Given the description of an element on the screen output the (x, y) to click on. 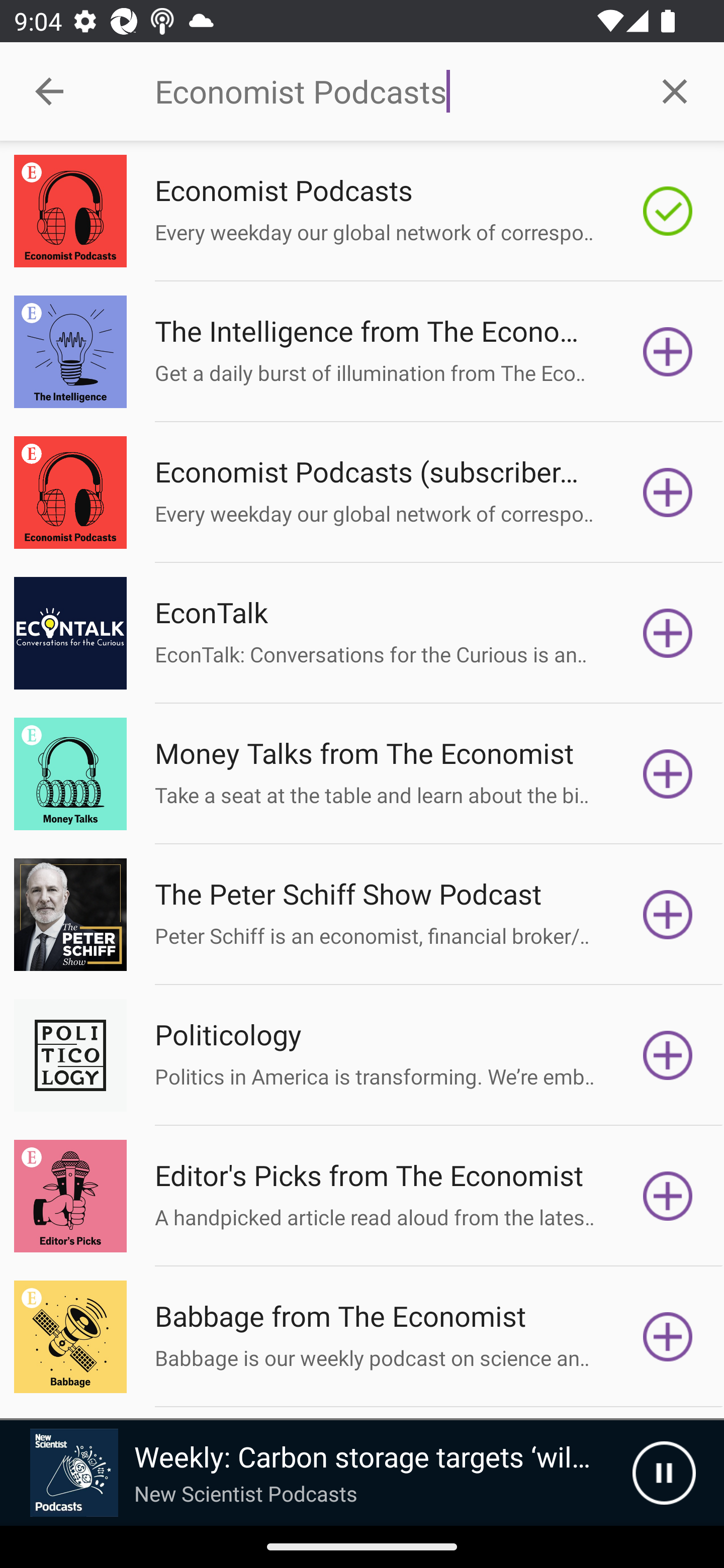
Collapse (49, 91)
Clear query (674, 90)
Economist Podcasts (389, 91)
Subscribed (667, 211)
Subscribe (667, 350)
Subscribe (667, 491)
Subscribe (667, 633)
Subscribe (667, 773)
Subscribe (667, 913)
Subscribe (667, 1054)
Subscribe (667, 1195)
Subscribe (667, 1336)
Pause (663, 1472)
